Given the description of an element on the screen output the (x, y) to click on. 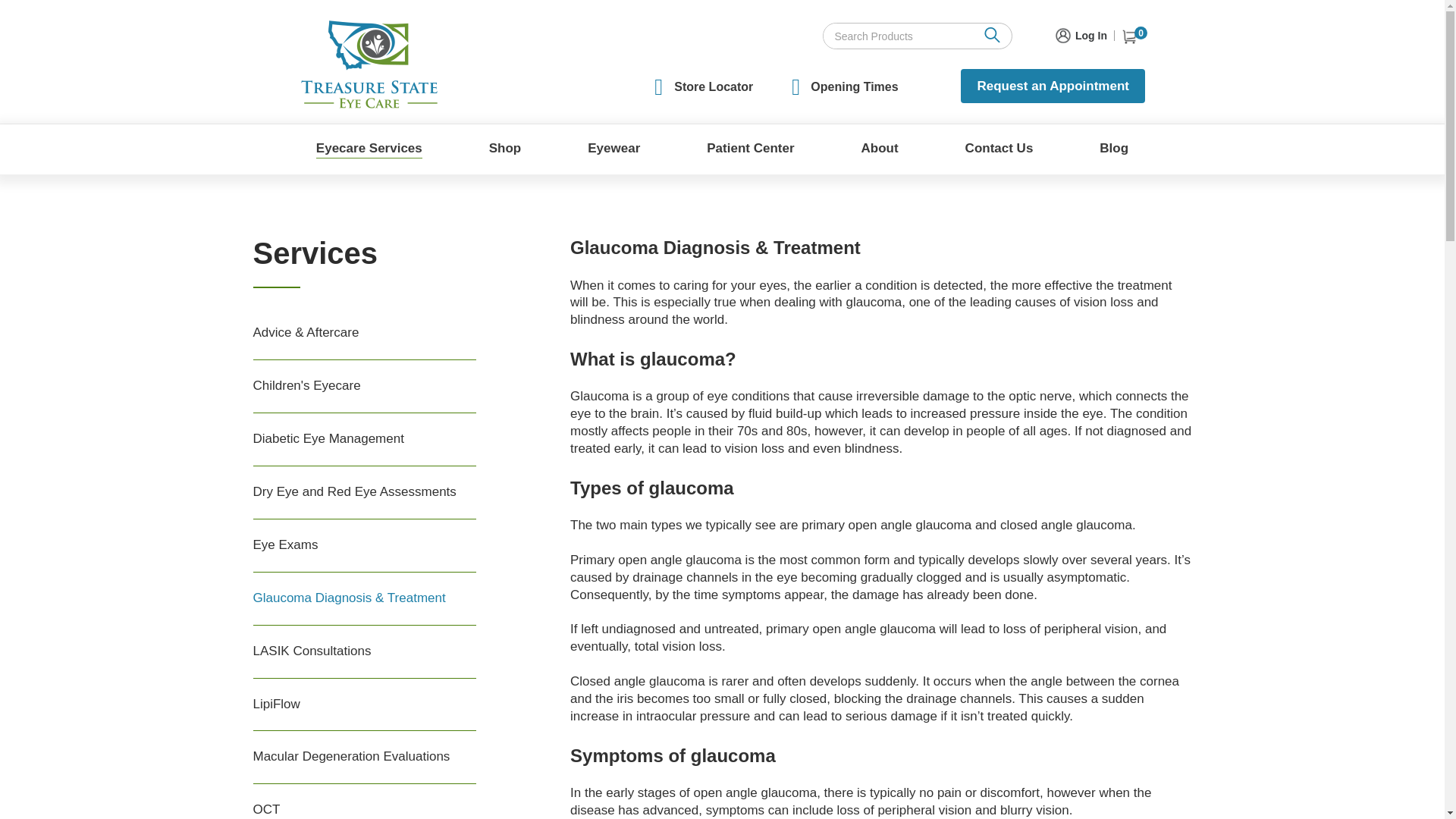
Eyecare Services (368, 144)
0 (1132, 36)
Store Locator (713, 85)
Shop (505, 144)
Request an Appointment (1052, 85)
Patient Center (749, 144)
View your shopping cart (1132, 36)
Eyewear (614, 144)
Log In (1080, 33)
Opening Times (854, 85)
